Given the description of an element on the screen output the (x, y) to click on. 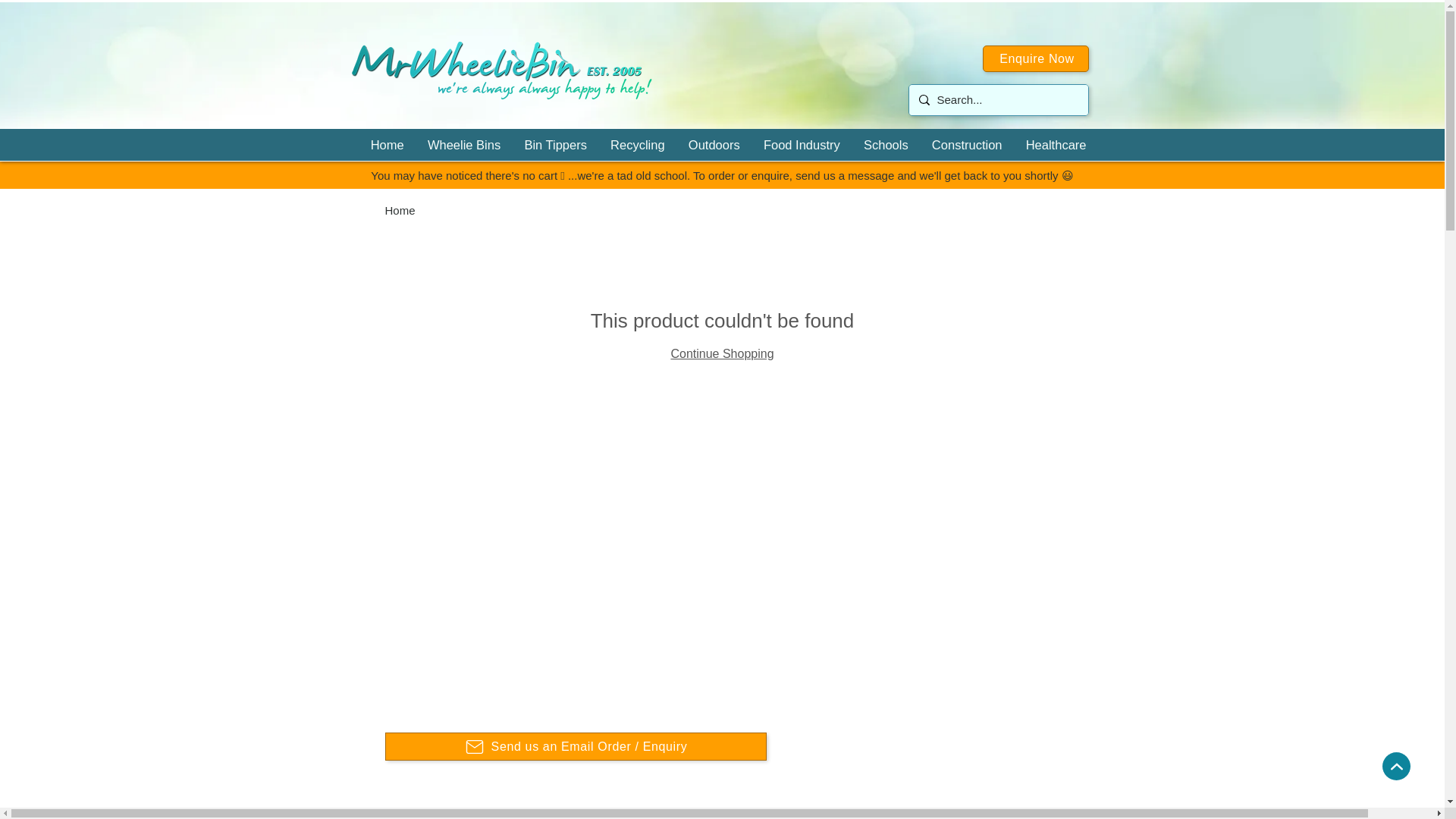
Enquire Now (1035, 58)
Recycling (634, 144)
Bin Tippers (552, 144)
Food Industry (799, 144)
Home (385, 144)
Outdoors (711, 144)
Wheelie Bins (461, 144)
